Given the description of an element on the screen output the (x, y) to click on. 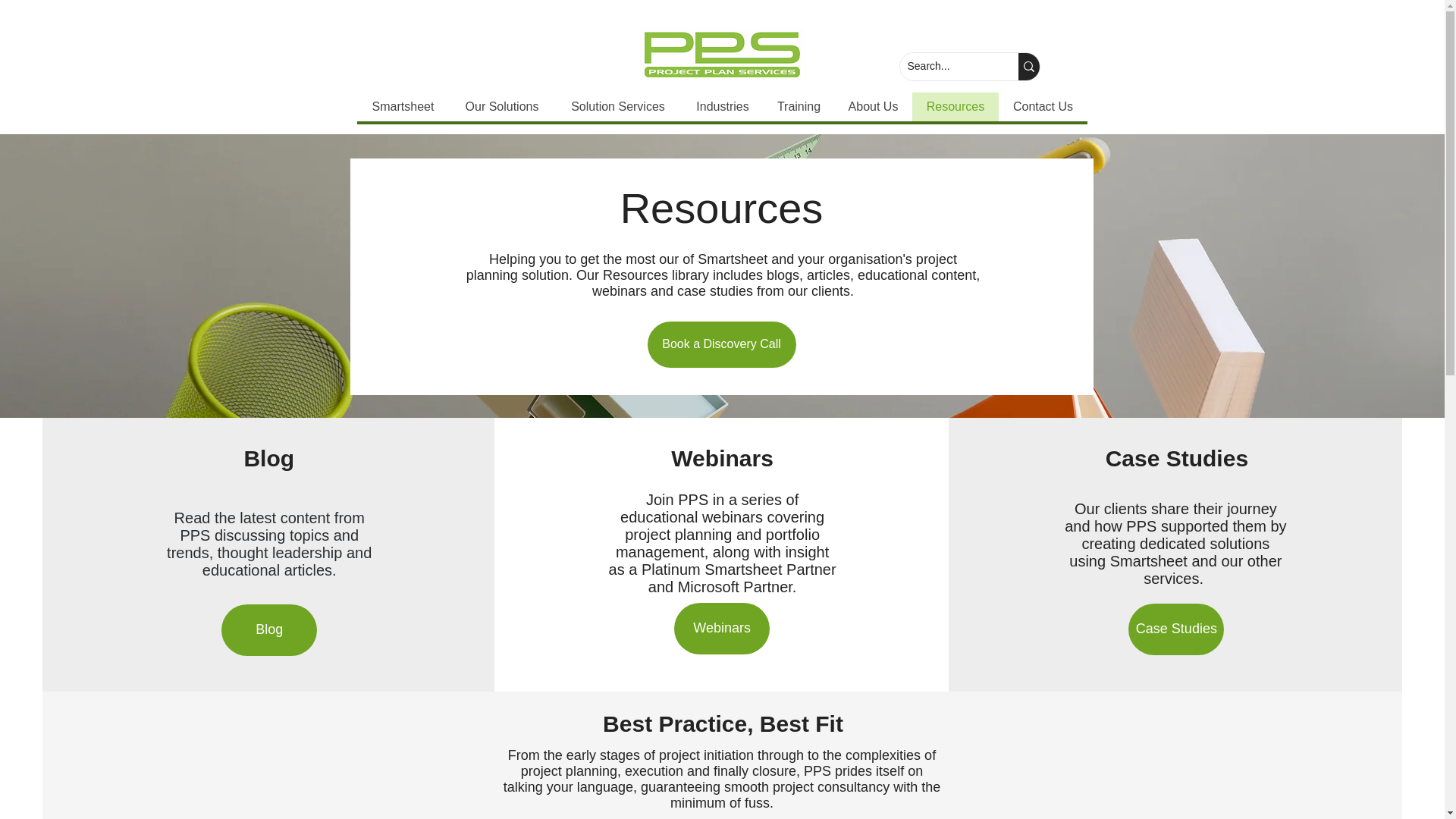
Our Solutions (500, 106)
Smartsheet (402, 106)
Training (797, 106)
Solution Services (617, 106)
Resources (954, 106)
About Us (873, 106)
